Given the description of an element on the screen output the (x, y) to click on. 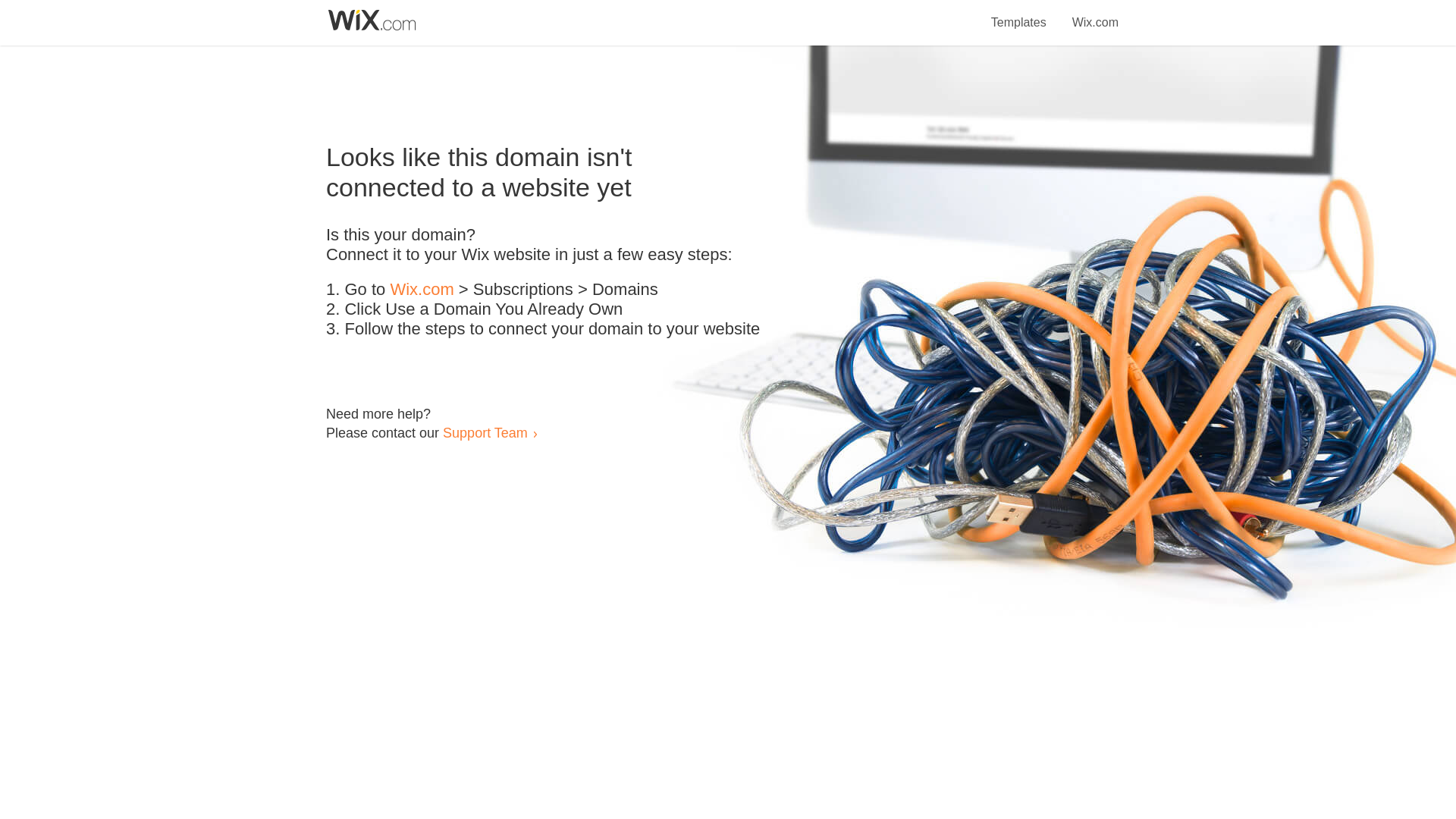
Support Team (484, 432)
Templates (1018, 14)
Wix.com (421, 289)
Wix.com (1095, 14)
